Given the description of an element on the screen output the (x, y) to click on. 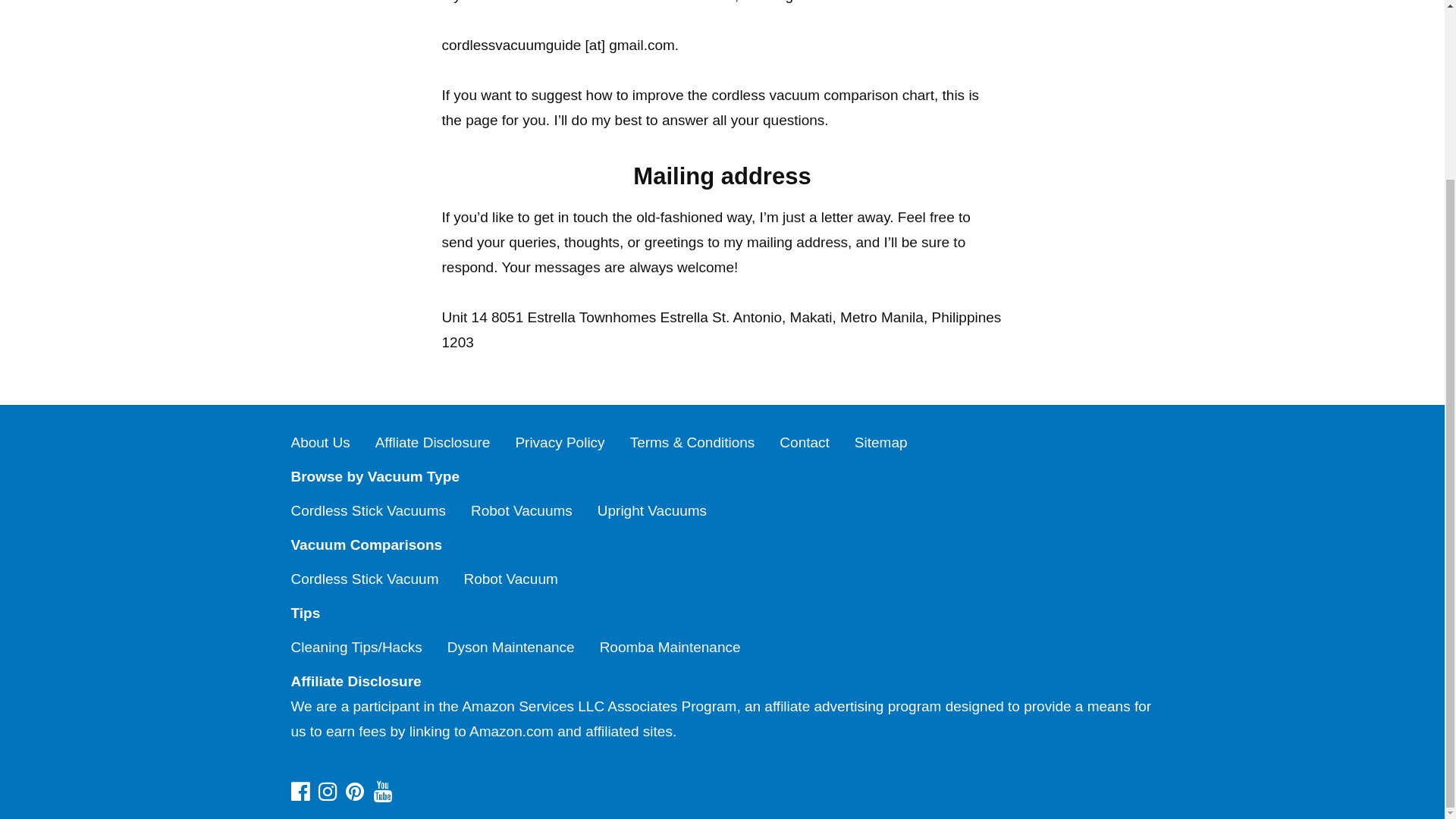
Robot Vacuums (521, 510)
Privacy Policy (559, 442)
Robot Vacuum (510, 578)
Affliate Disclosure (432, 442)
Upright Vacuums (651, 510)
Sitemap (880, 442)
About Us (320, 442)
DMCA Compliance information for bestcordlessvacuumguide.com (722, 760)
Cordless Stick Vacuum (365, 578)
Contact (803, 442)
